Given the description of an element on the screen output the (x, y) to click on. 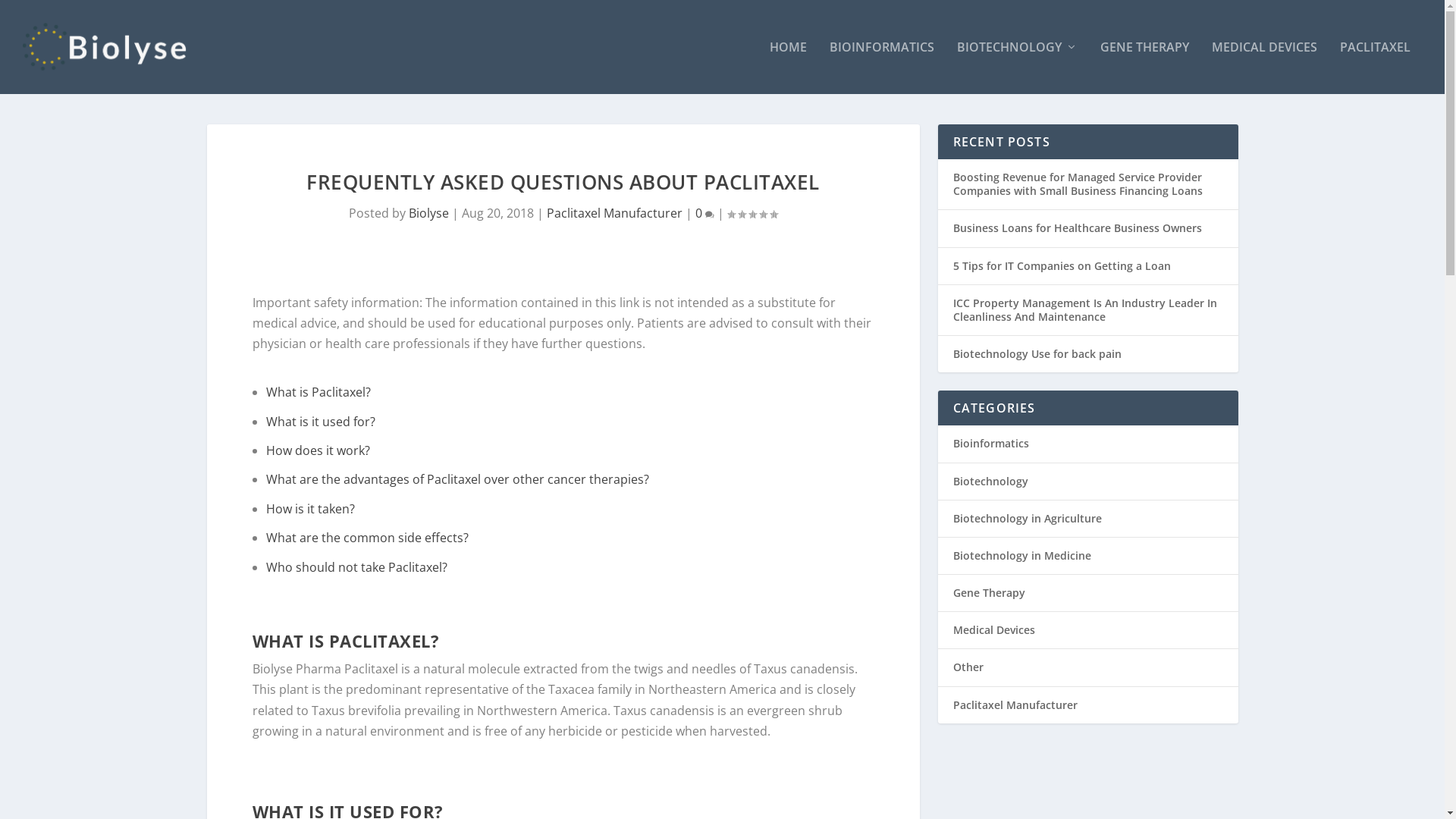
Business Loans for Healthcare Business Owners Element type: text (1076, 227)
5 Tips for IT Companies on Getting a Loan Element type: text (1061, 265)
What are the common side effects? Element type: text (367, 537)
comment count Element type: hover (709, 214)
Biotechnology in Medicine Element type: text (1021, 555)
What is Paclitaxel? Element type: text (318, 391)
PACLITAXEL Element type: text (1374, 67)
BIOINFORMATICS Element type: text (881, 67)
Biotechnology in Agriculture Element type: text (1026, 518)
MEDICAL DEVICES Element type: text (1264, 67)
0 Element type: text (704, 212)
Bioinformatics Element type: text (990, 443)
Who should not take Paclitaxel? Element type: text (356, 566)
Other Element type: text (967, 666)
How does it work? Element type: text (318, 450)
Medical Devices Element type: text (993, 629)
Biolyse Element type: text (428, 212)
Paclitaxel Manufacturer Element type: text (1014, 704)
GENE THERAPY Element type: text (1144, 67)
Biotechnology Element type: text (989, 480)
Biotechnology Use for back pain Element type: text (1036, 353)
Paclitaxel Manufacturer Element type: text (614, 212)
What is it used for? Element type: text (320, 421)
BIOTECHNOLOGY Element type: text (1017, 67)
Rating: 0.00 Element type: hover (752, 213)
HOME Element type: text (787, 67)
Gene Therapy Element type: text (988, 592)
How is it taken? Element type: text (310, 508)
